Given the description of an element on the screen output the (x, y) to click on. 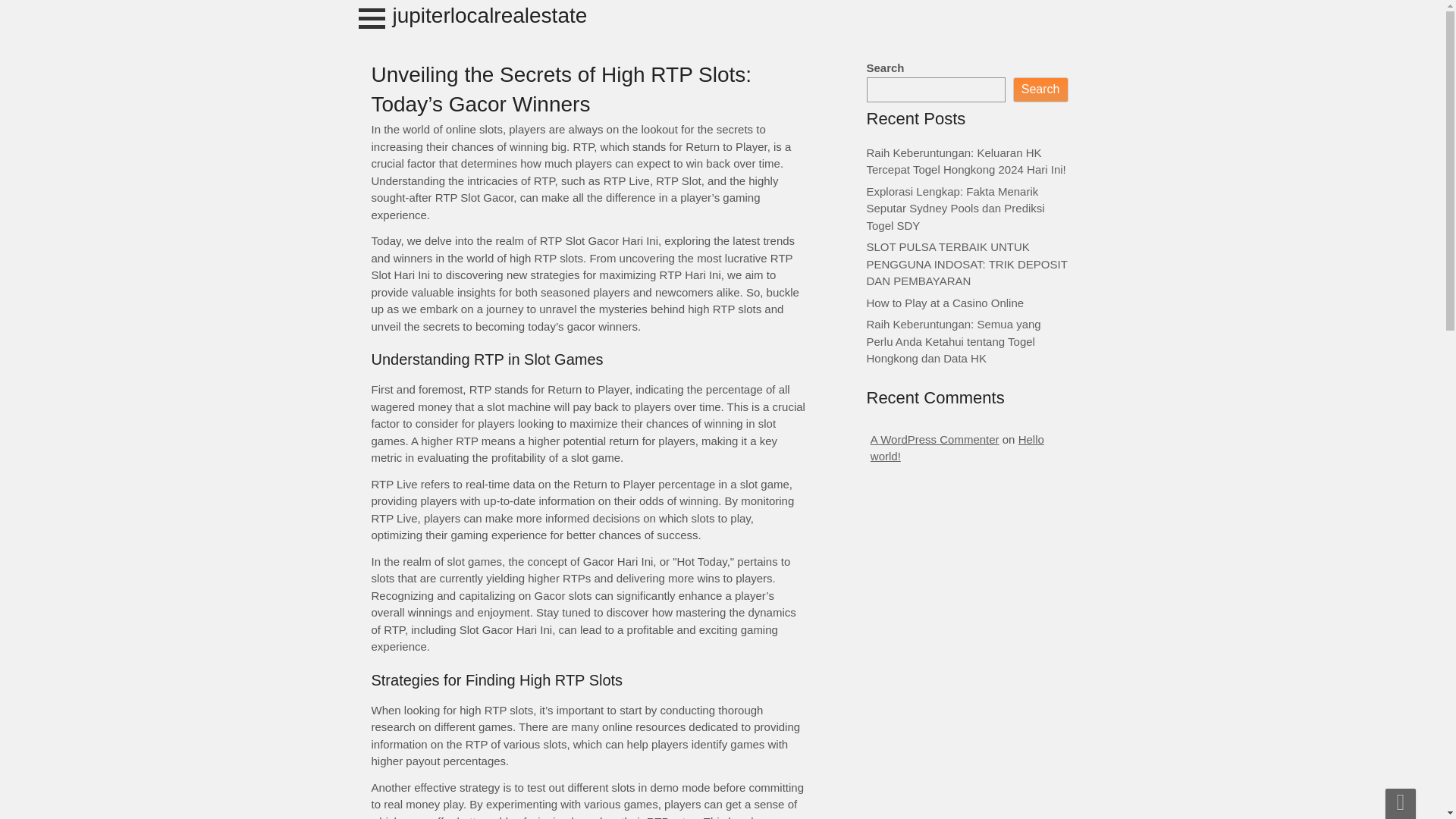
Search (1040, 89)
A WordPress Commenter (934, 438)
How to Play at a Casino Online (944, 301)
jupiterlocalrealestate (490, 15)
Hello world! (956, 447)
